Given the description of an element on the screen output the (x, y) to click on. 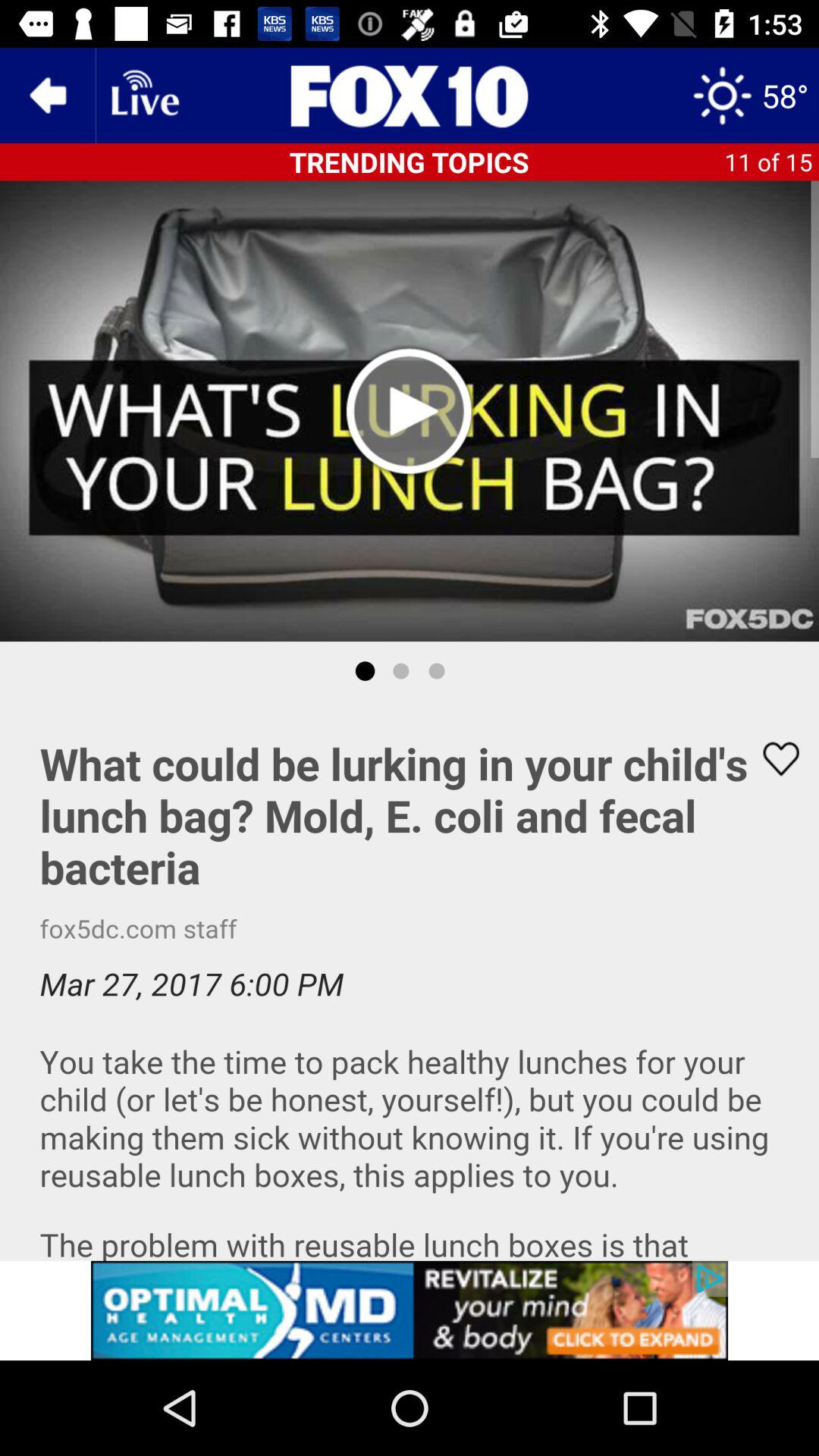
like this article (409, 980)
